Given the description of an element on the screen output the (x, y) to click on. 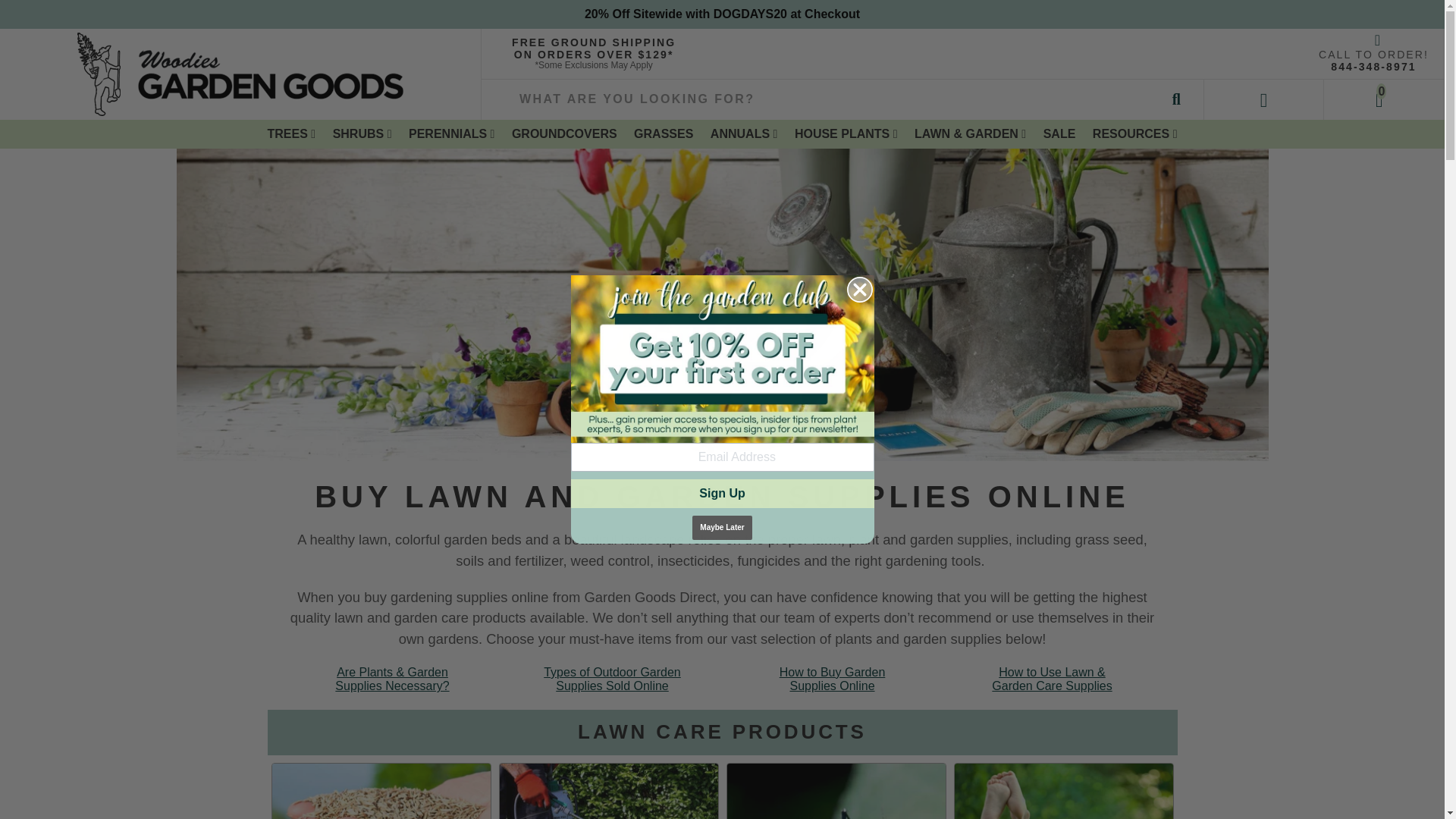
TREES (290, 133)
0 (1383, 99)
Account (1264, 99)
844-348-8971 (1373, 66)
Search (1176, 99)
Close dialog 2 (858, 289)
